Given the description of an element on the screen output the (x, y) to click on. 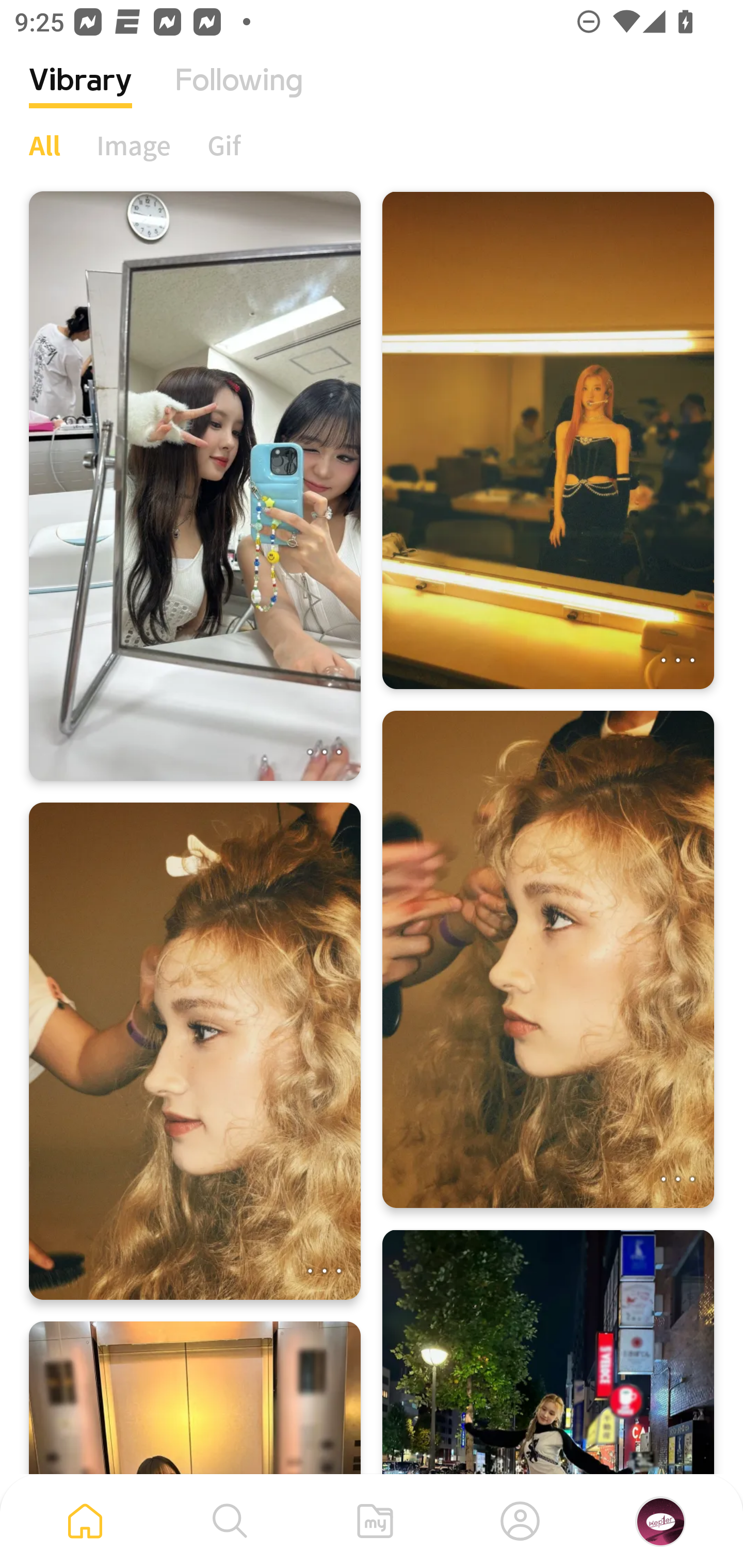
Vibrary (80, 95)
Following (239, 95)
All (44, 145)
Image (133, 145)
Gif (223, 145)
